Given the description of an element on the screen output the (x, y) to click on. 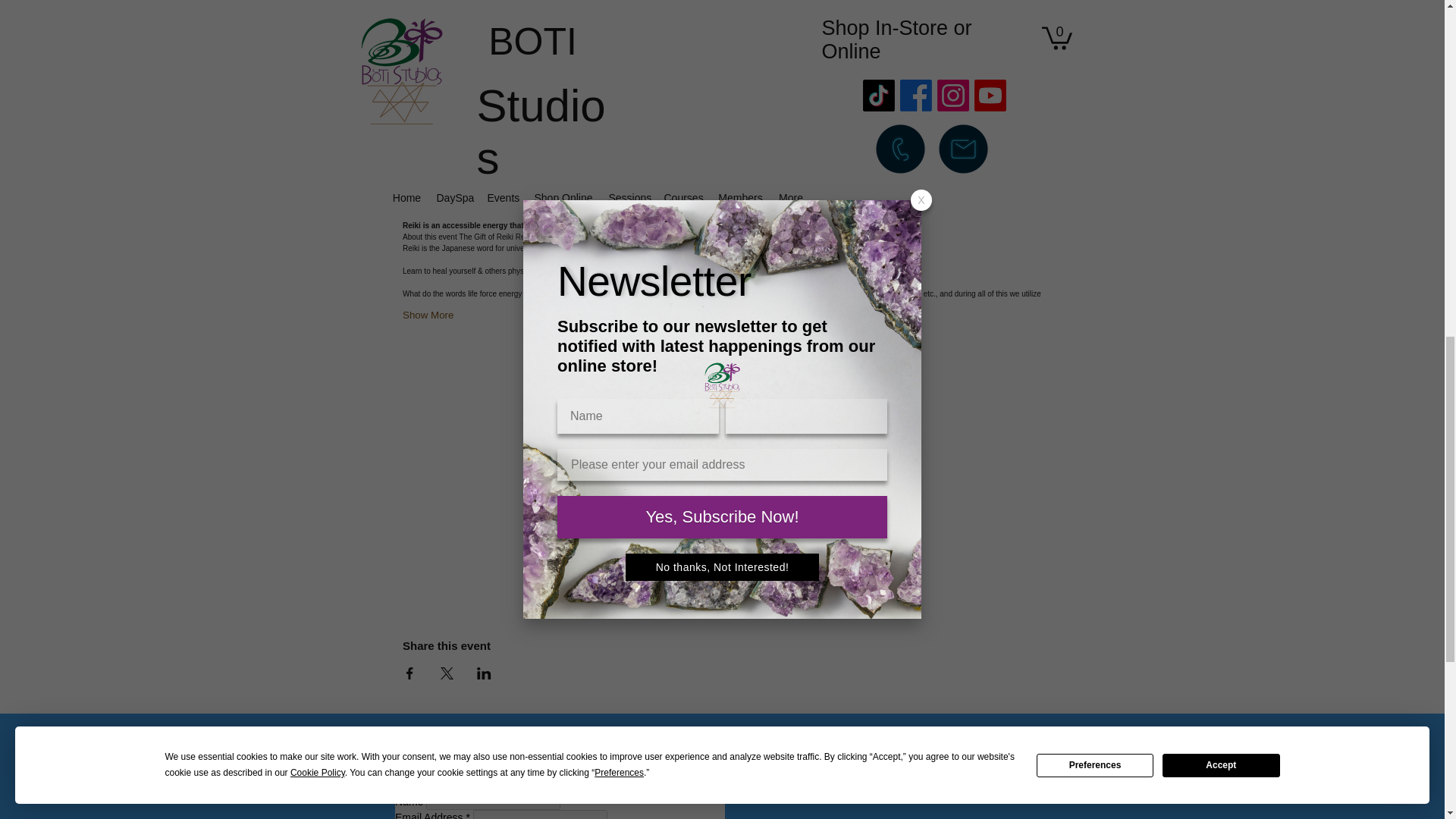
714.220.8351 (928, 766)
Embedded Content (559, 781)
Show More (427, 314)
